Given the description of an element on the screen output the (x, y) to click on. 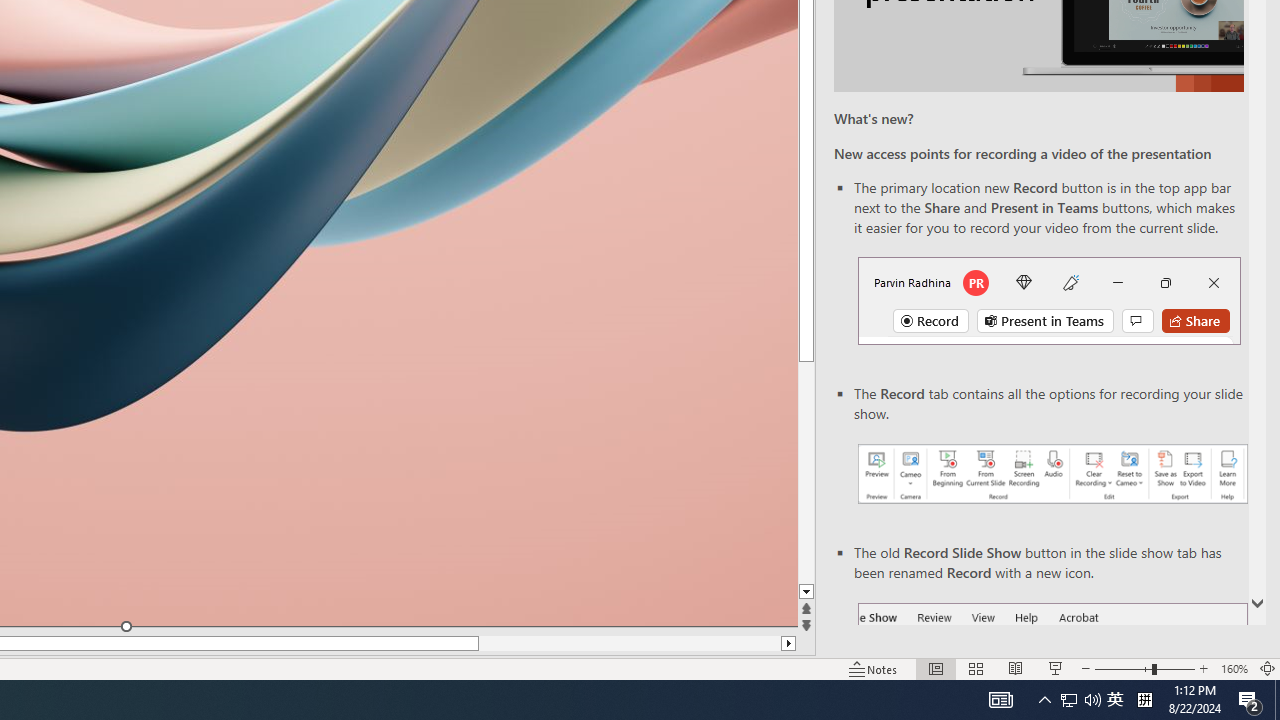
Record button in top bar (1049, 300)
Zoom 160% (1234, 668)
